Given the description of an element on the screen output the (x, y) to click on. 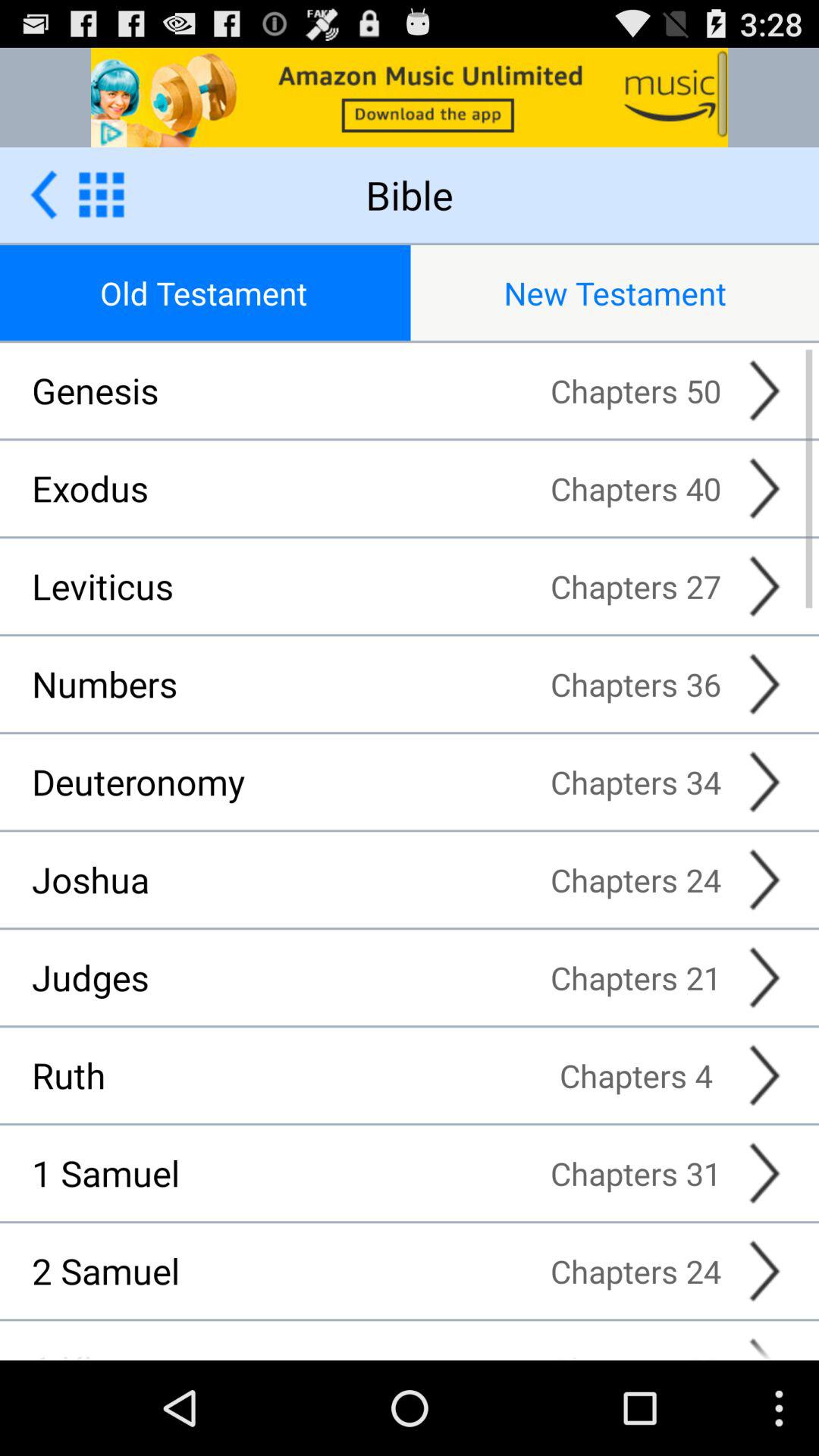
ad\ (409, 97)
